Given the description of an element on the screen output the (x, y) to click on. 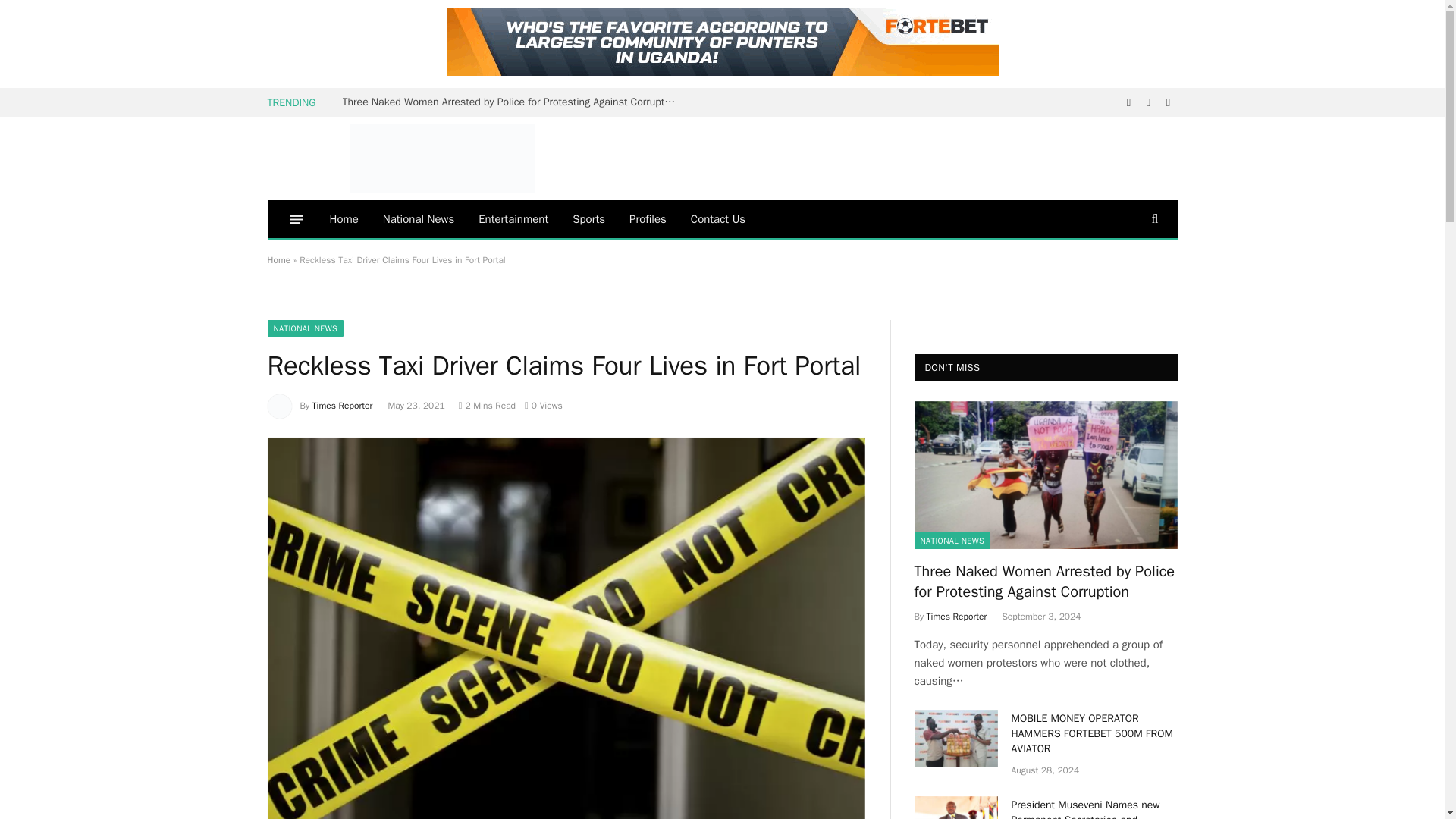
Home (343, 218)
Posts by Times Reporter (342, 405)
Entertainment (512, 218)
National News (418, 218)
Times Uganda (441, 158)
0 Article Views (543, 405)
Profiles (647, 218)
Sports (588, 218)
